Given the description of an element on the screen output the (x, y) to click on. 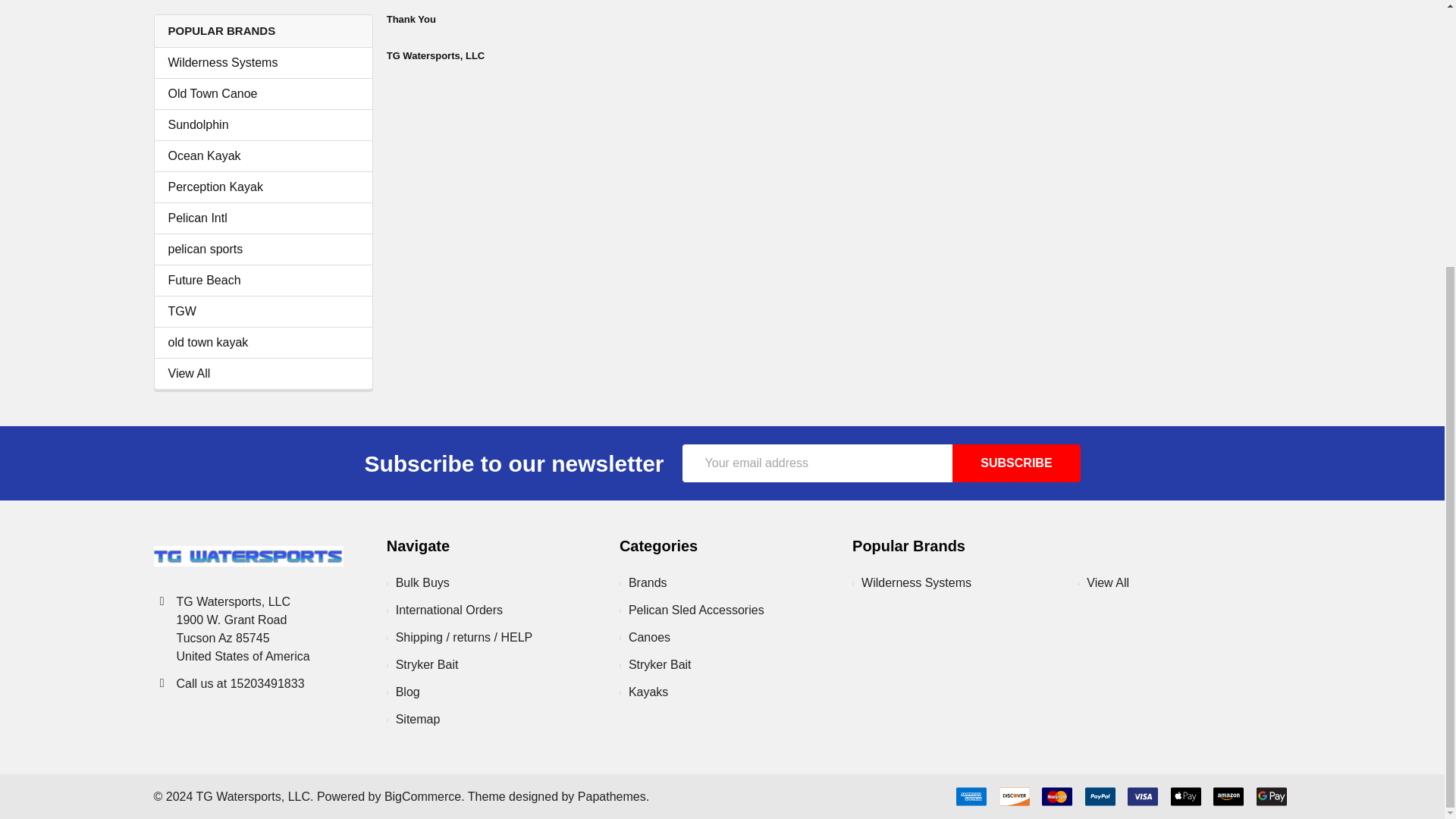
Sundolphin (263, 125)
Pelican Intl (263, 218)
TG Watersports       (247, 556)
Wilderness Systems (263, 63)
Future Beach (263, 280)
Perception Kayak (263, 187)
TGW (263, 311)
old town kayak (263, 342)
Ocean Kayak (263, 156)
